Given the description of an element on the screen output the (x, y) to click on. 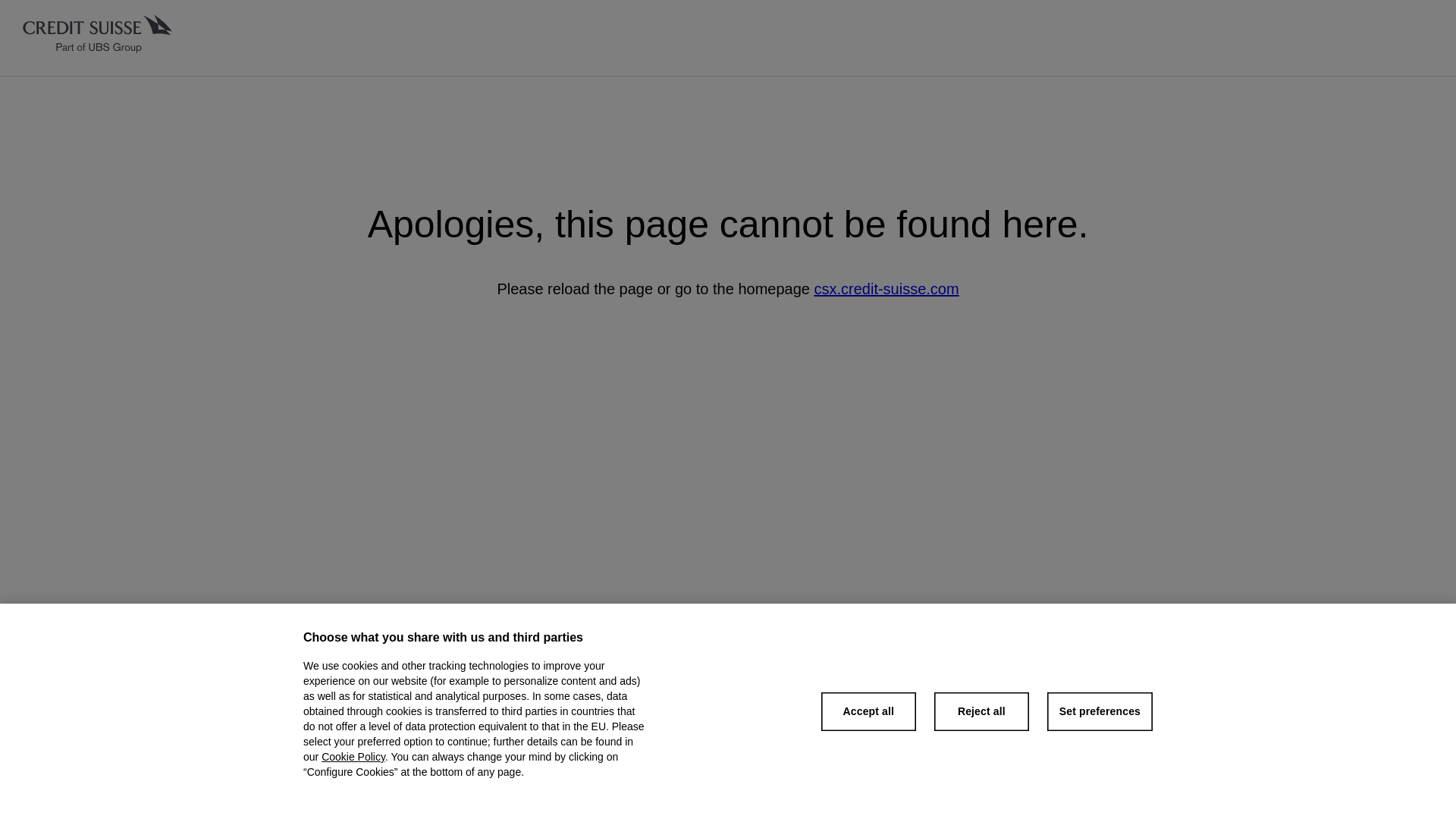
csx.credit-suisse.com (885, 288)
Set preferences (1099, 711)
Accept all (868, 711)
Reject all (981, 711)
Cookie Policy (353, 756)
